Given the description of an element on the screen output the (x, y) to click on. 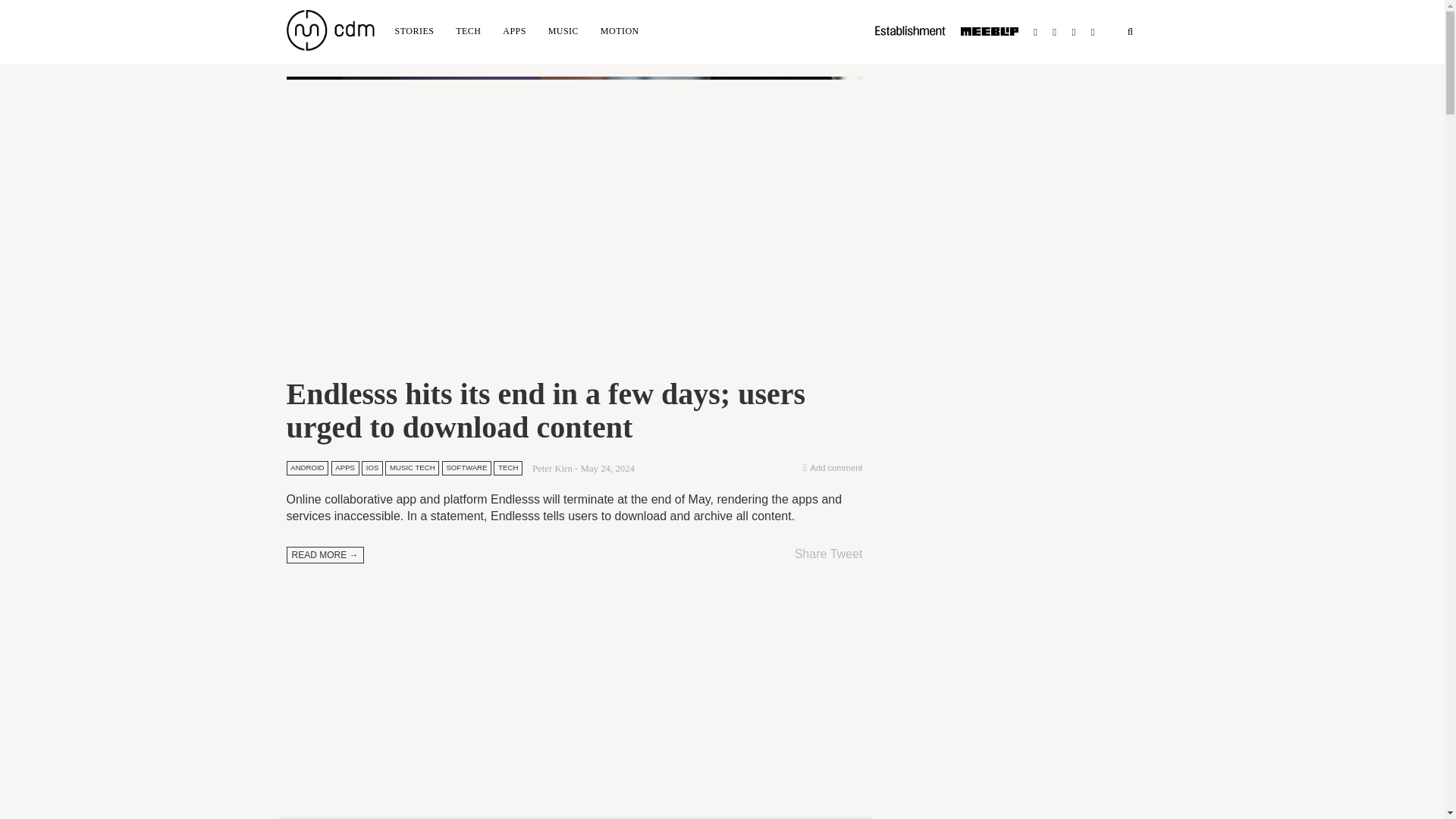
SOFTWARE (467, 468)
MUSIC (563, 30)
Tweet (846, 553)
ANDROID (307, 468)
STORIES (414, 30)
search (1130, 32)
Add comment (835, 467)
APPS (345, 468)
IOS (371, 468)
MOTION (619, 30)
TECH (507, 468)
APPS (514, 30)
MUSIC TECH (412, 468)
Share (810, 553)
